Given the description of an element on the screen output the (x, y) to click on. 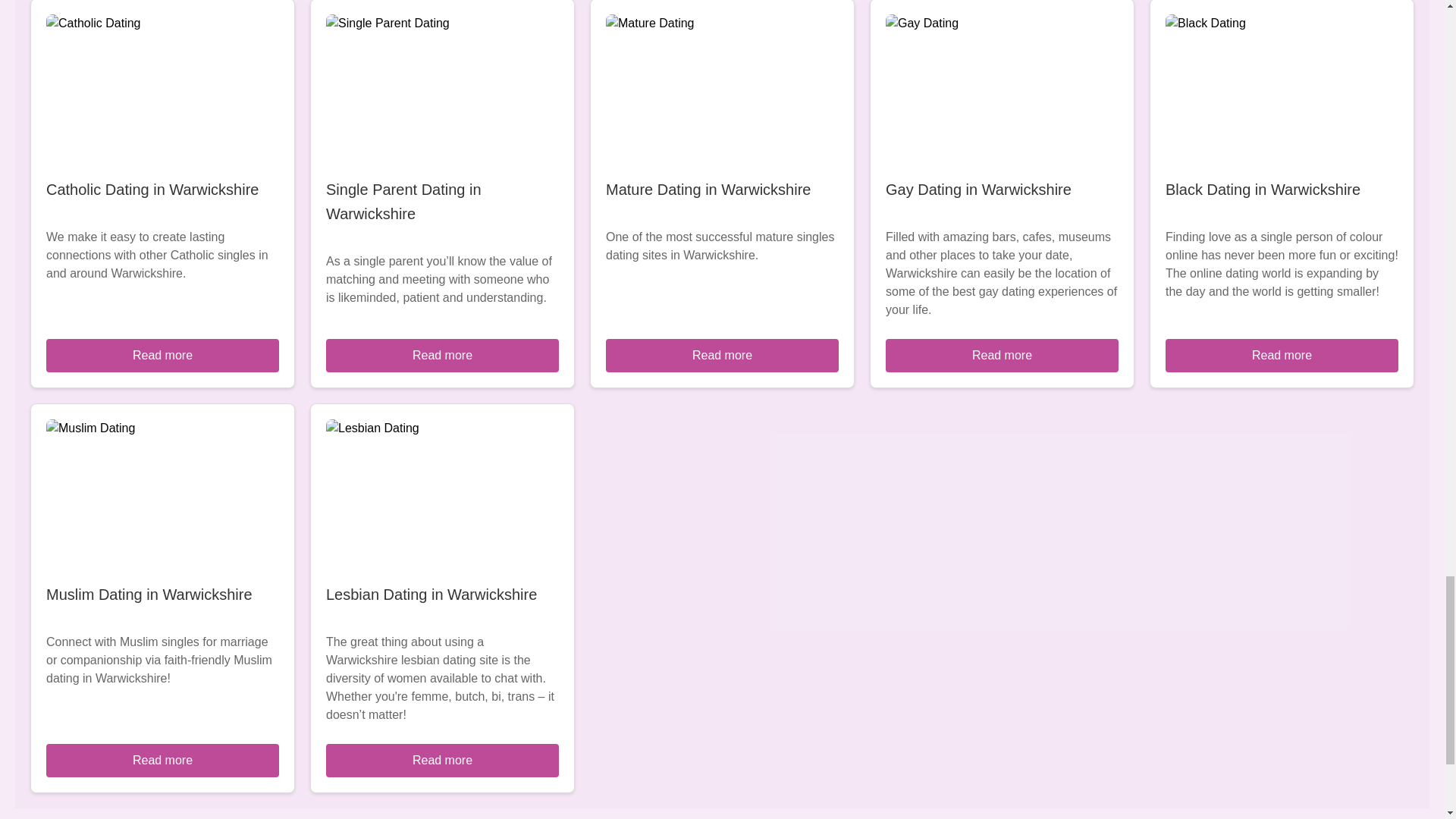
Read more (162, 355)
Read more (442, 760)
Read more (1281, 355)
Read more (442, 355)
Read more (162, 760)
Read more (1001, 355)
Read more (721, 355)
